Given the description of an element on the screen output the (x, y) to click on. 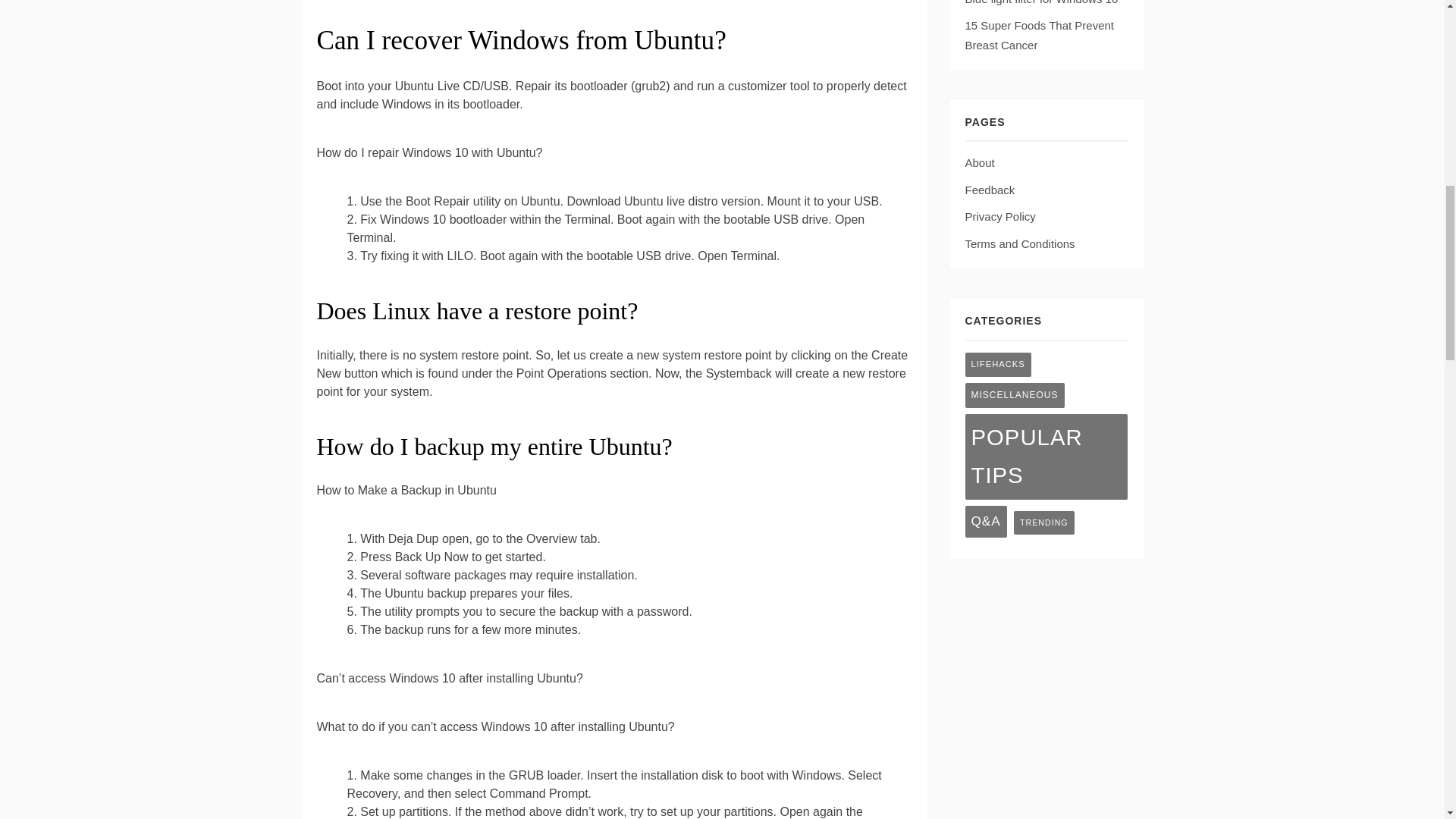
About (978, 162)
MISCELLANEOUS (1013, 395)
POPULAR TIPS (1044, 456)
Privacy Policy (999, 215)
Feedback (988, 189)
Blue light filter for Windows 10 (1040, 2)
TRENDING (1043, 522)
15 Super Foods That Prevent Breast Cancer (1038, 34)
LIFEHACKS (996, 364)
Terms and Conditions (1018, 243)
